Given the description of an element on the screen output the (x, y) to click on. 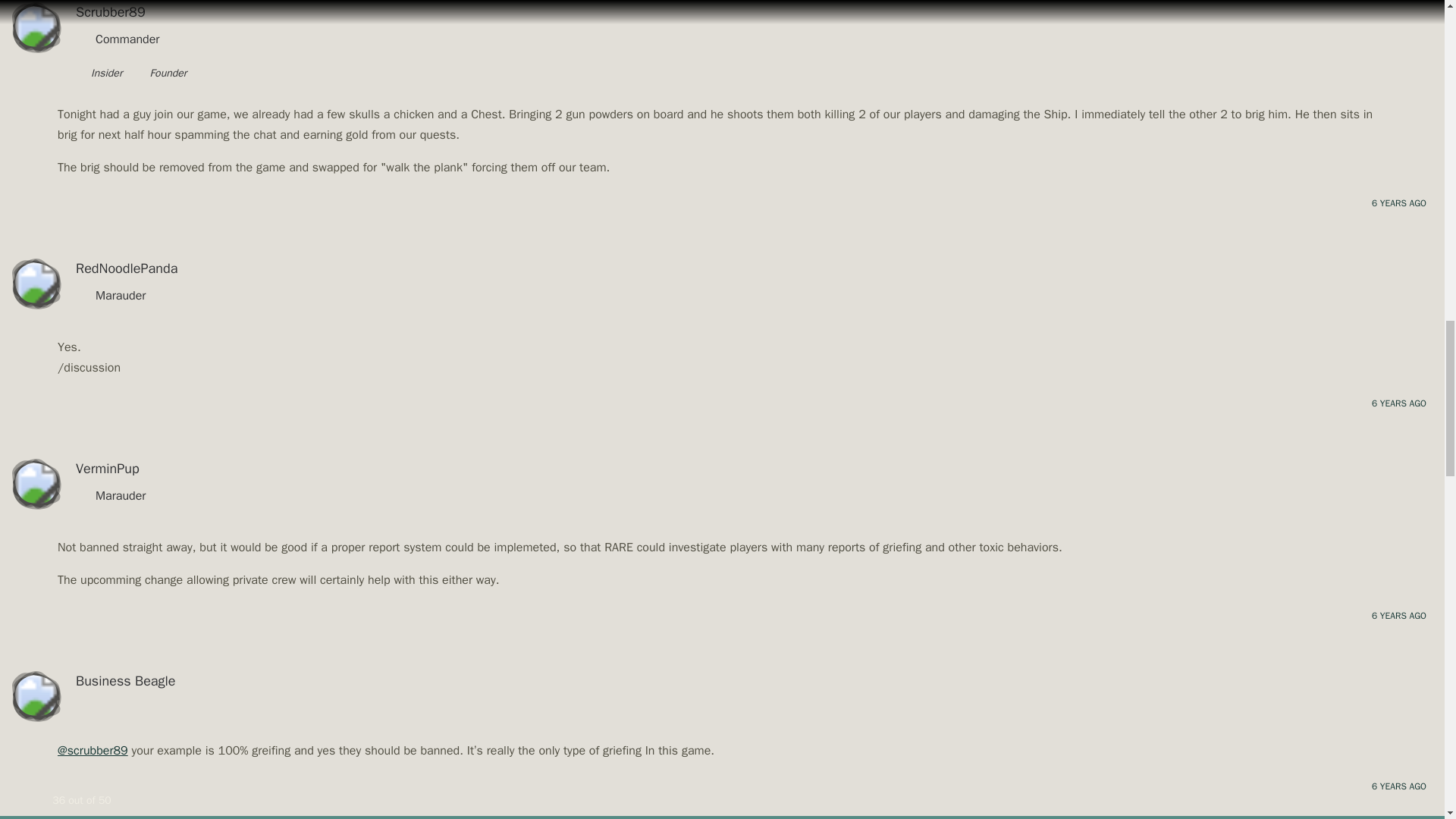
6 YEARS AGO (1398, 786)
6 YEARS AGO (1398, 615)
6 YEARS AGO (1398, 202)
6 YEARS AGO (1398, 403)
